Given the description of an element on the screen output the (x, y) to click on. 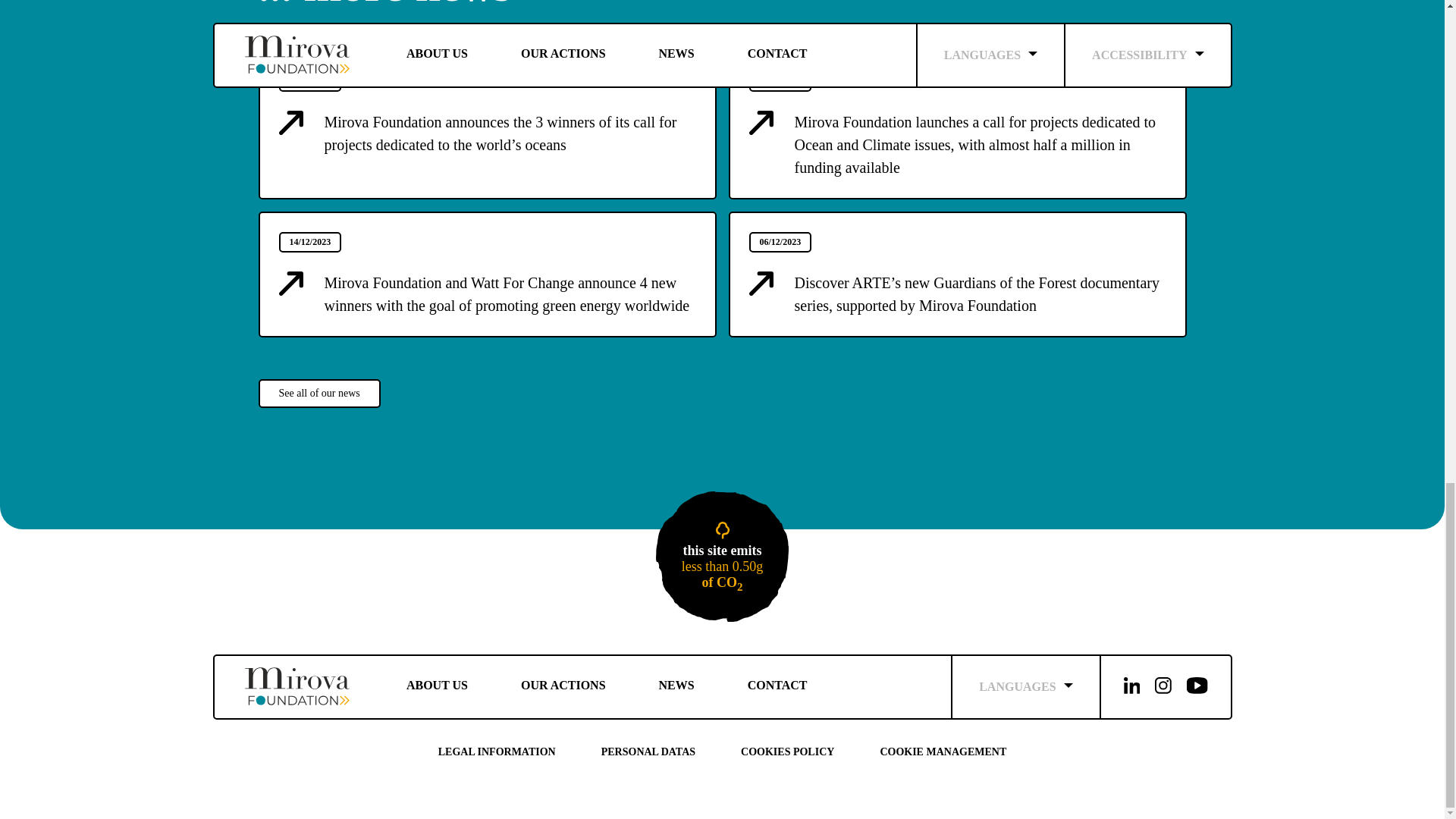
YOUTUBE (1196, 686)
ABOUT US (437, 685)
INSTAGRAM (1163, 686)
LINKEDIN (1132, 686)
See all of our news (318, 393)
OUR ACTIONS (722, 557)
CONTACT (563, 685)
NEWS (777, 685)
LANGUAGES (675, 685)
LEGAL INFORMATION (1025, 687)
PERSONAL DATAS (496, 752)
